Given the description of an element on the screen output the (x, y) to click on. 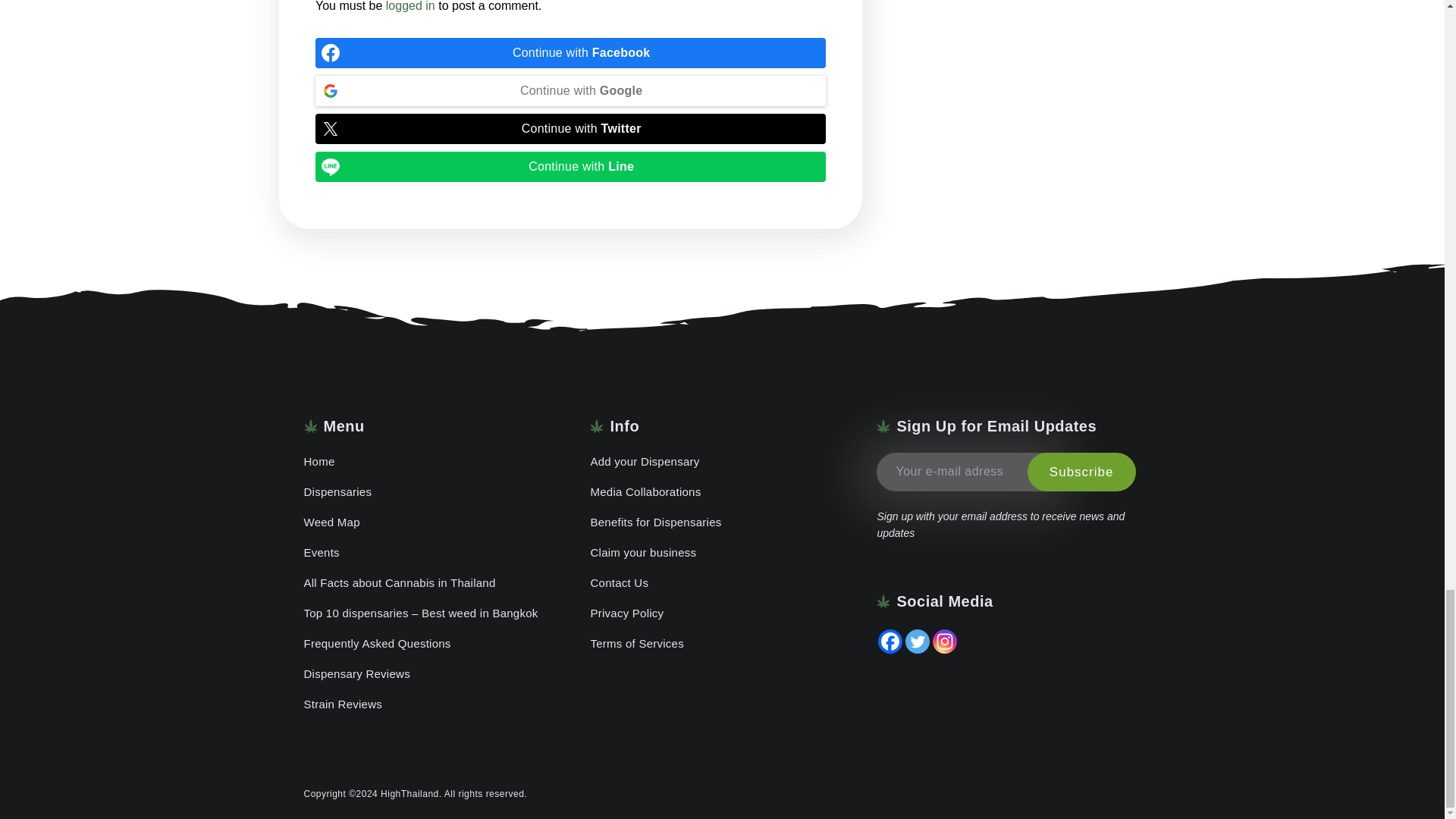
Facebook (889, 641)
Twitter (917, 641)
Instagram (944, 641)
Subscribe (1081, 471)
